Given the description of an element on the screen output the (x, y) to click on. 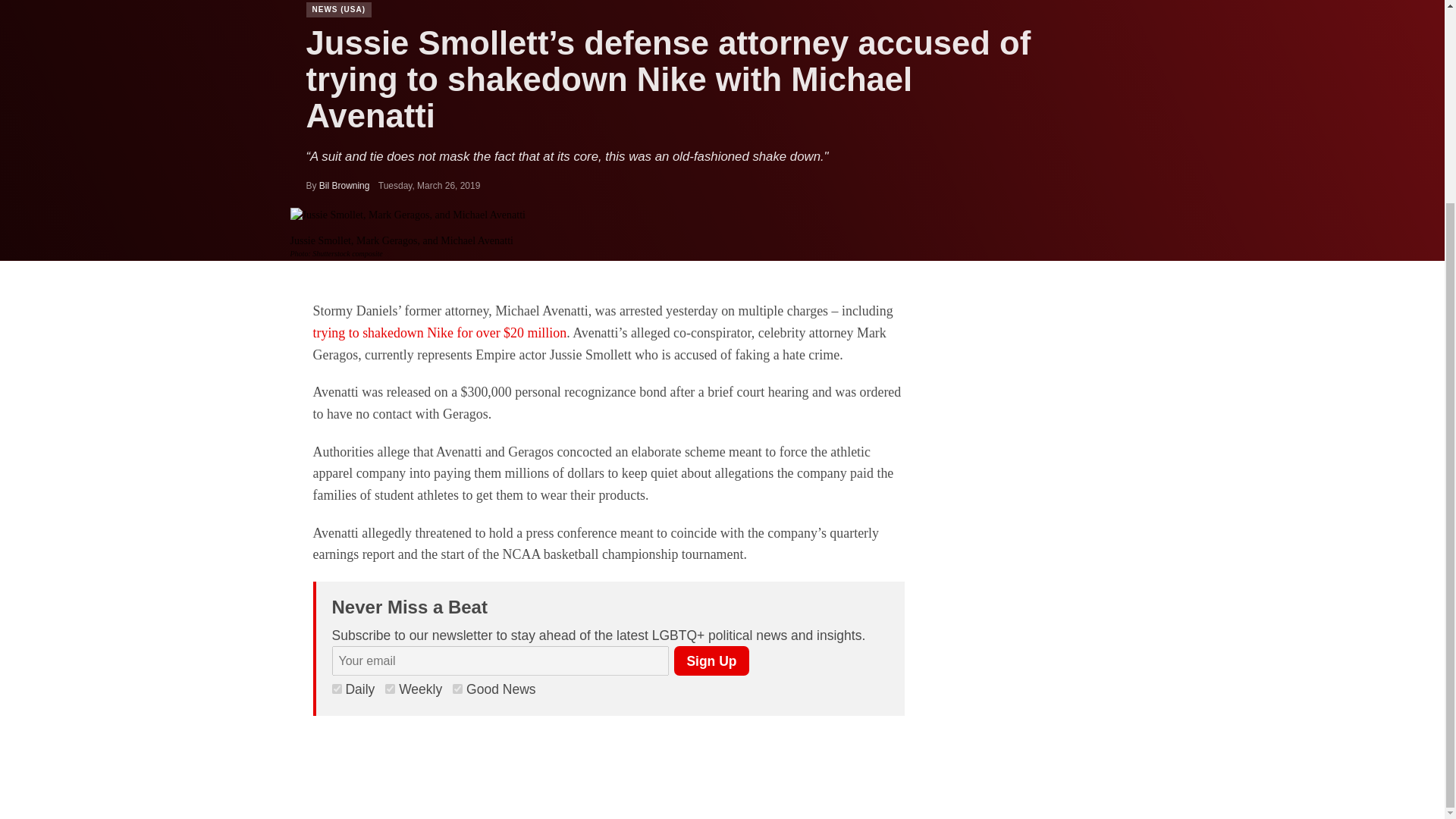
Bil Browning (343, 185)
1920884 (389, 688)
Posts by Bil Browning (343, 185)
Sign Up (711, 660)
smollet-geragos-avenatti (406, 215)
Tuesday, March 26, 2019 am31 11:30:55 (429, 185)
1920885 (336, 688)
1920883 (457, 688)
